Given the description of an element on the screen output the (x, y) to click on. 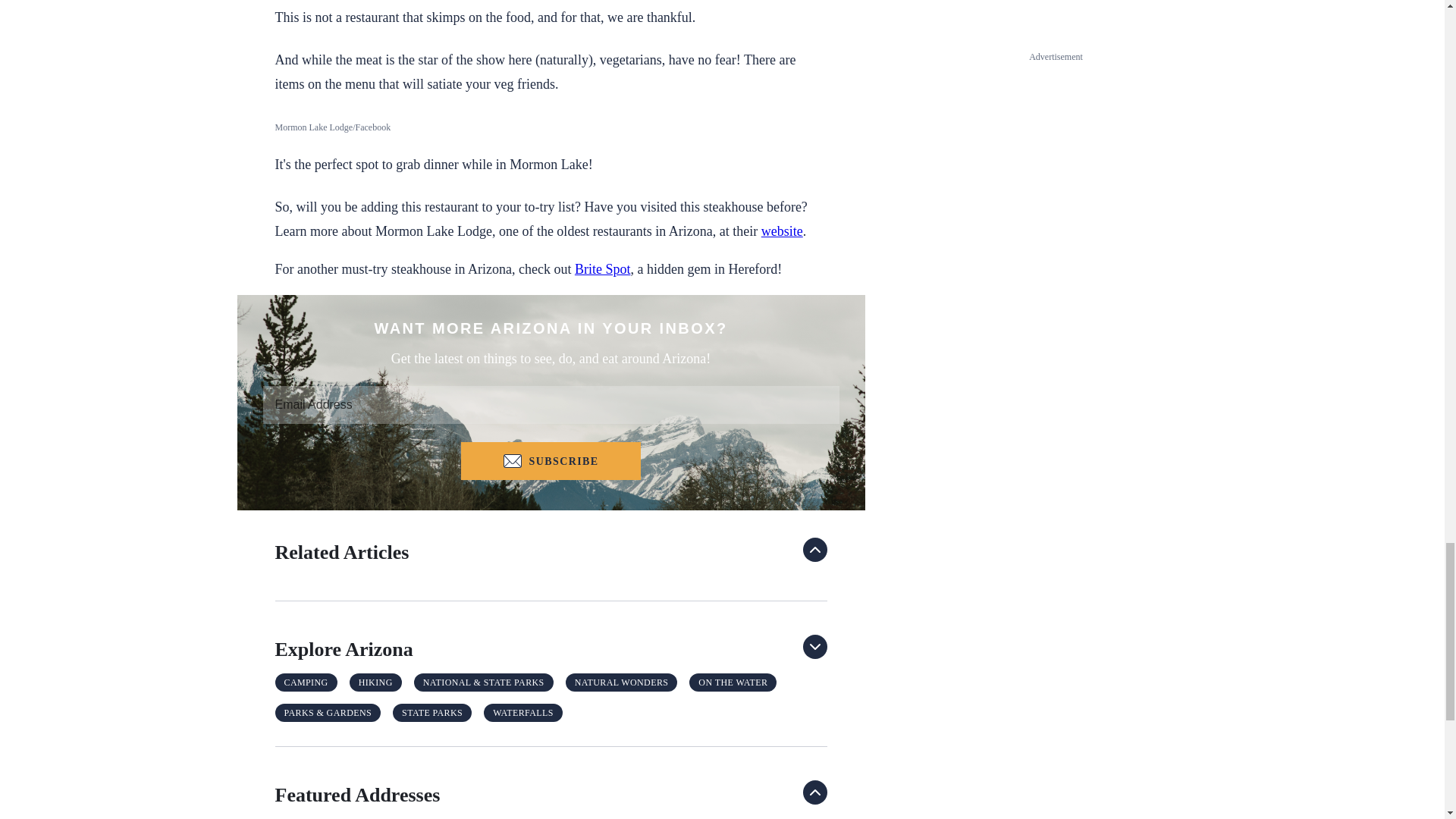
Waterfalls (523, 712)
Camping (305, 682)
On the Water (732, 682)
State Parks (432, 712)
Natural Wonders (621, 682)
Hiking (375, 682)
